Given the description of an element on the screen output the (x, y) to click on. 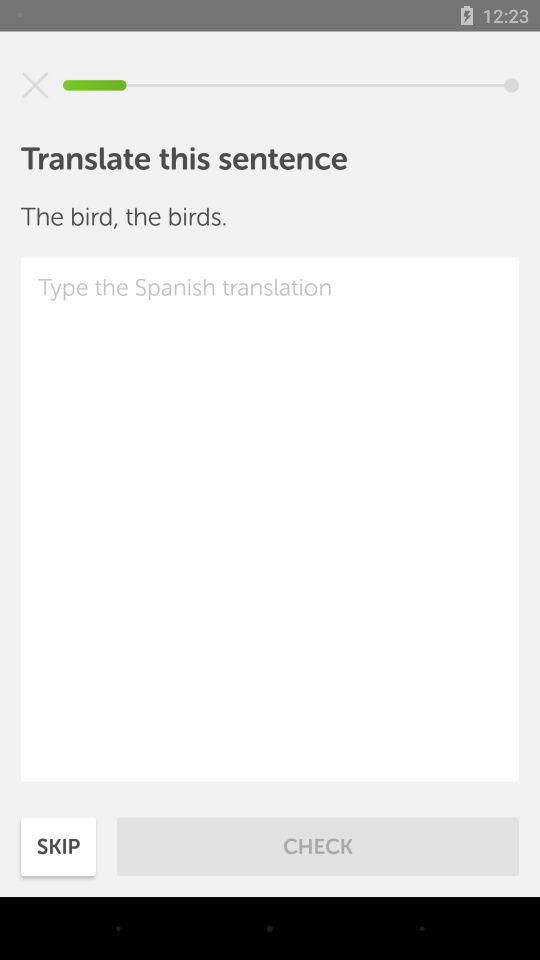
jump to skip (58, 846)
